Given the description of an element on the screen output the (x, y) to click on. 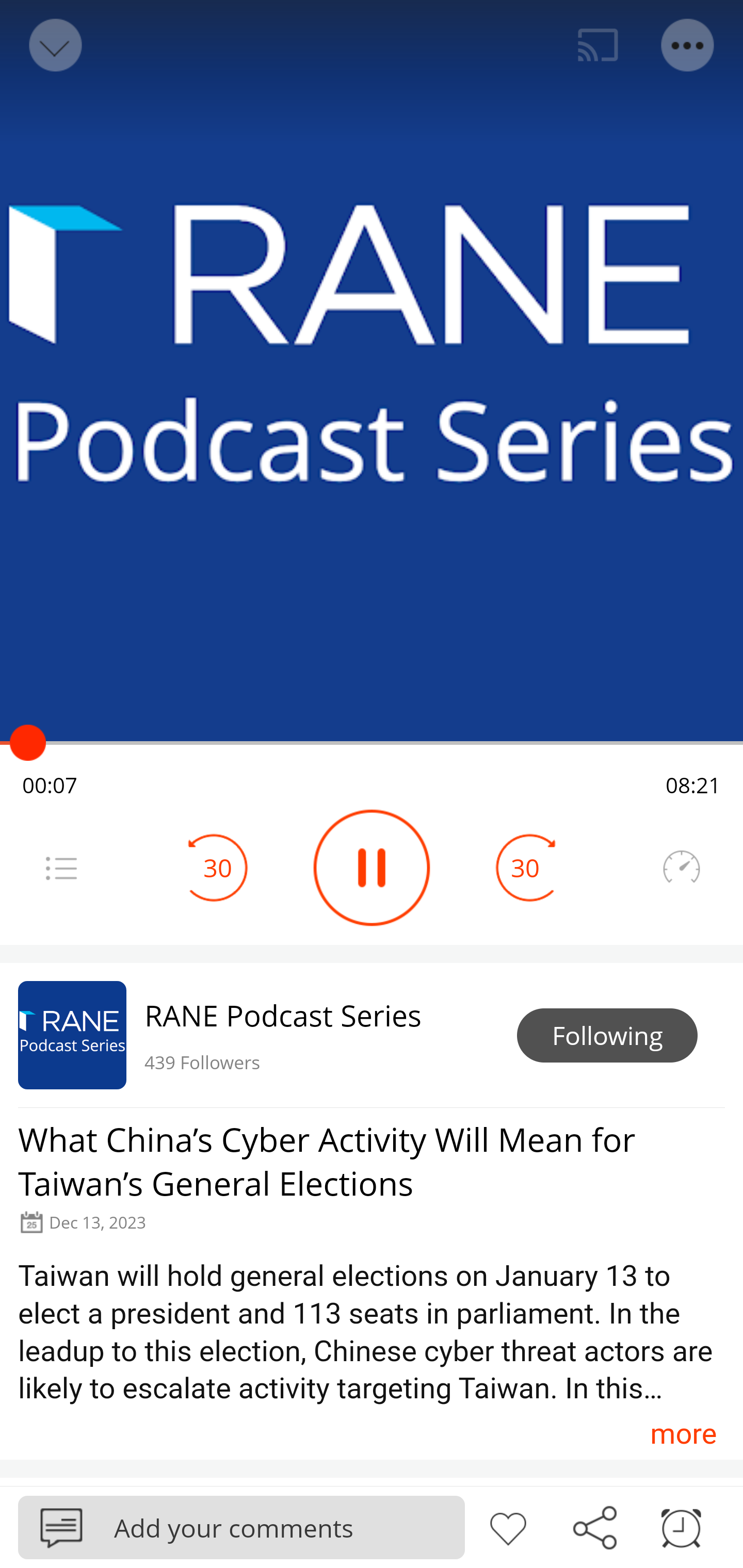
Back (53, 45)
Cast. Disconnected (597, 45)
Menu (688, 45)
Play (371, 867)
30 Seek Backward (217, 867)
30 Seek Forward (525, 867)
Menu (60, 867)
Speedometer (681, 867)
RANE Podcast Series 439 Followers Following (371, 1034)
Following (607, 1035)
more (682, 1432)
Like (508, 1526)
Share (594, 1526)
Sleep timer (681, 1526)
Podbean Add your comments (241, 1526)
